Given the description of an element on the screen output the (x, y) to click on. 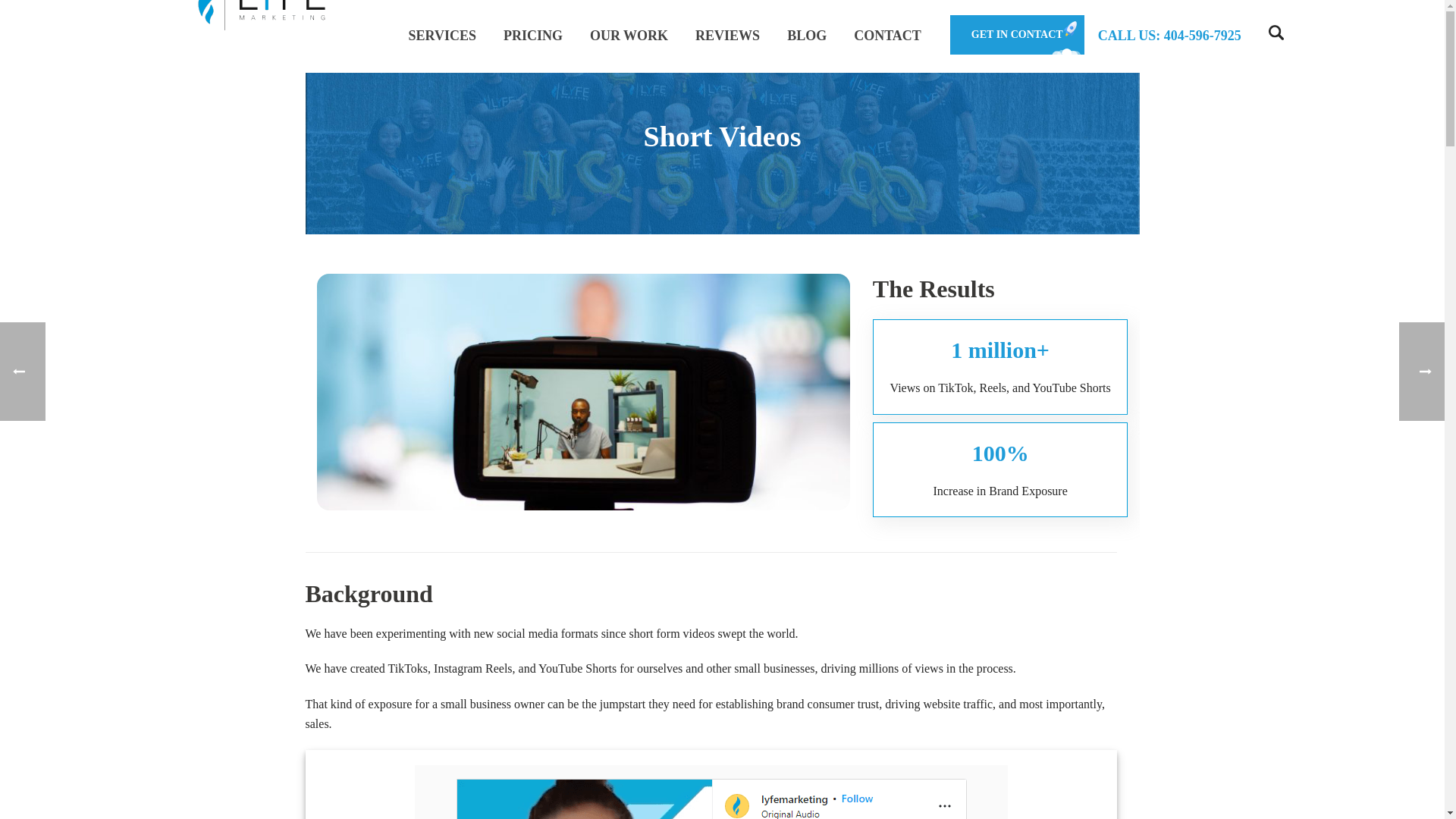
BLOG (806, 33)
results (710, 791)
Social Media Management Company (262, 17)
OUR WORK (628, 33)
BLOG (806, 33)
LYFE Marketing (262, 33)
REVIEWS (727, 33)
GET IN CONTACT (1017, 34)
REVIEWS (727, 33)
short-form-video (583, 391)
